Given the description of an element on the screen output the (x, y) to click on. 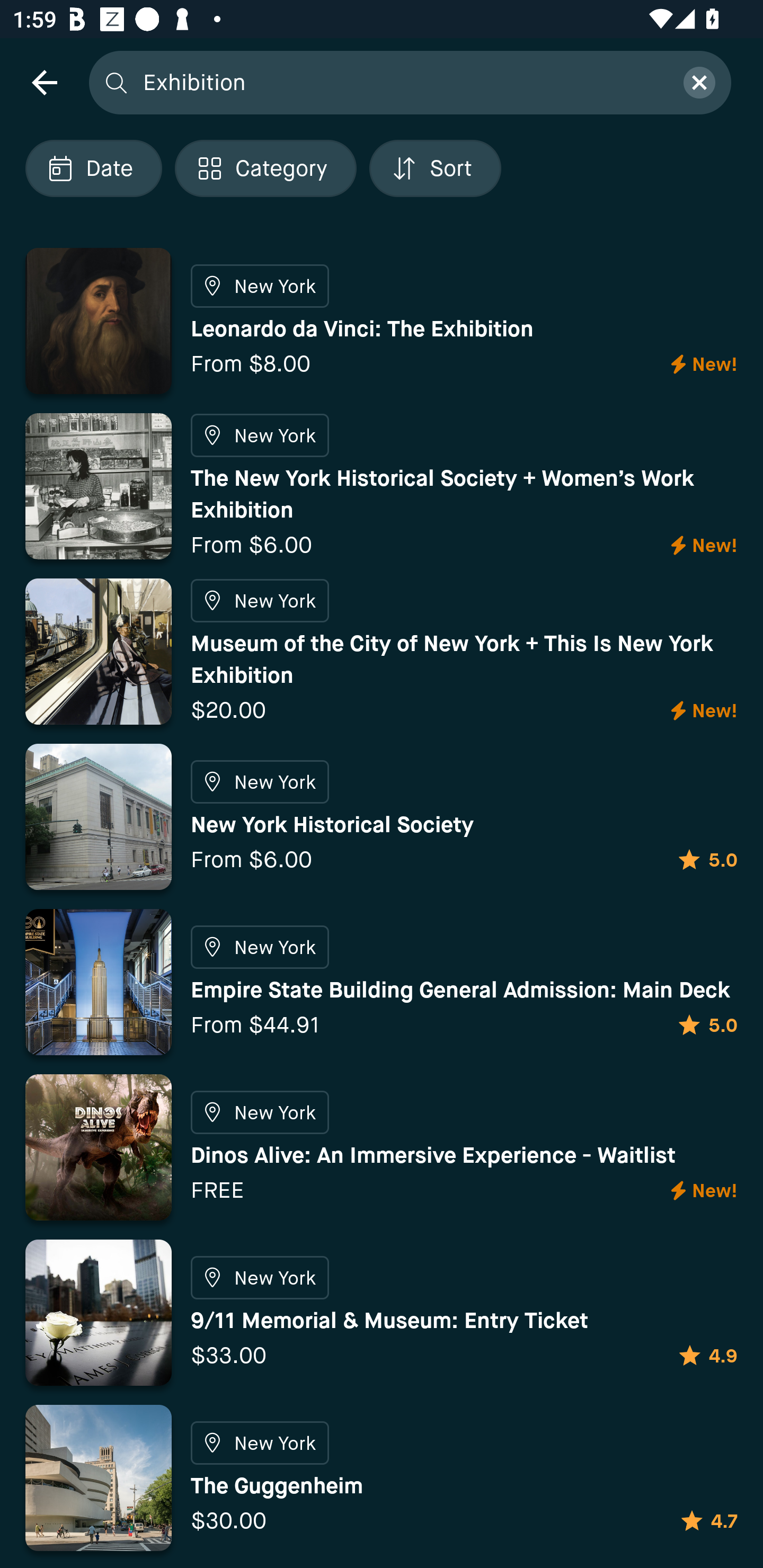
navigation icon (44, 81)
Exhibition (402, 81)
Localized description Date (93, 168)
Localized description Category (265, 168)
Localized description Sort (435, 168)
